Given the description of an element on the screen output the (x, y) to click on. 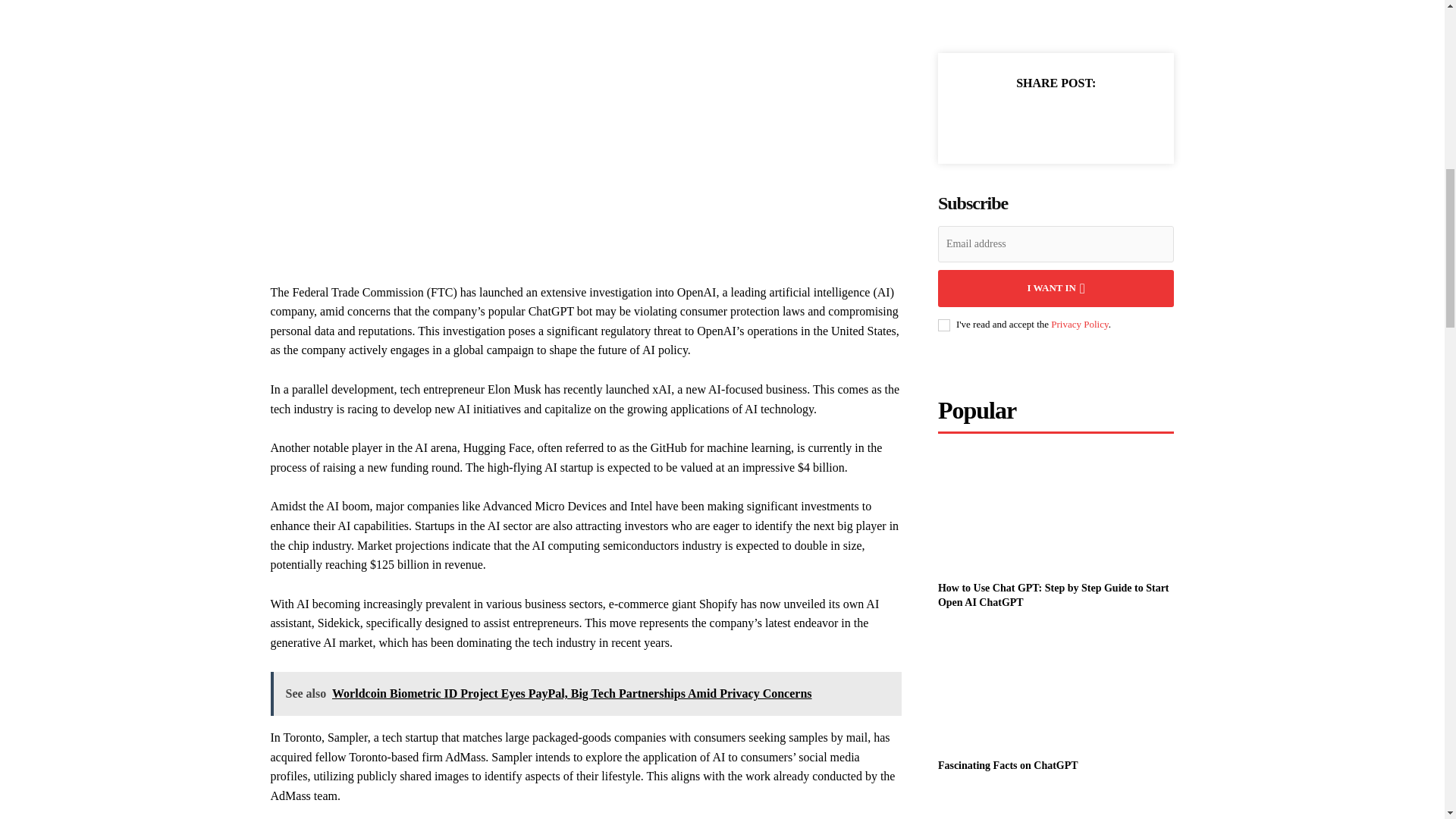
Fascinating Facts on ChatGPT (1055, 688)
Fascinating Facts on ChatGPT (1007, 765)
